Given the description of an element on the screen output the (x, y) to click on. 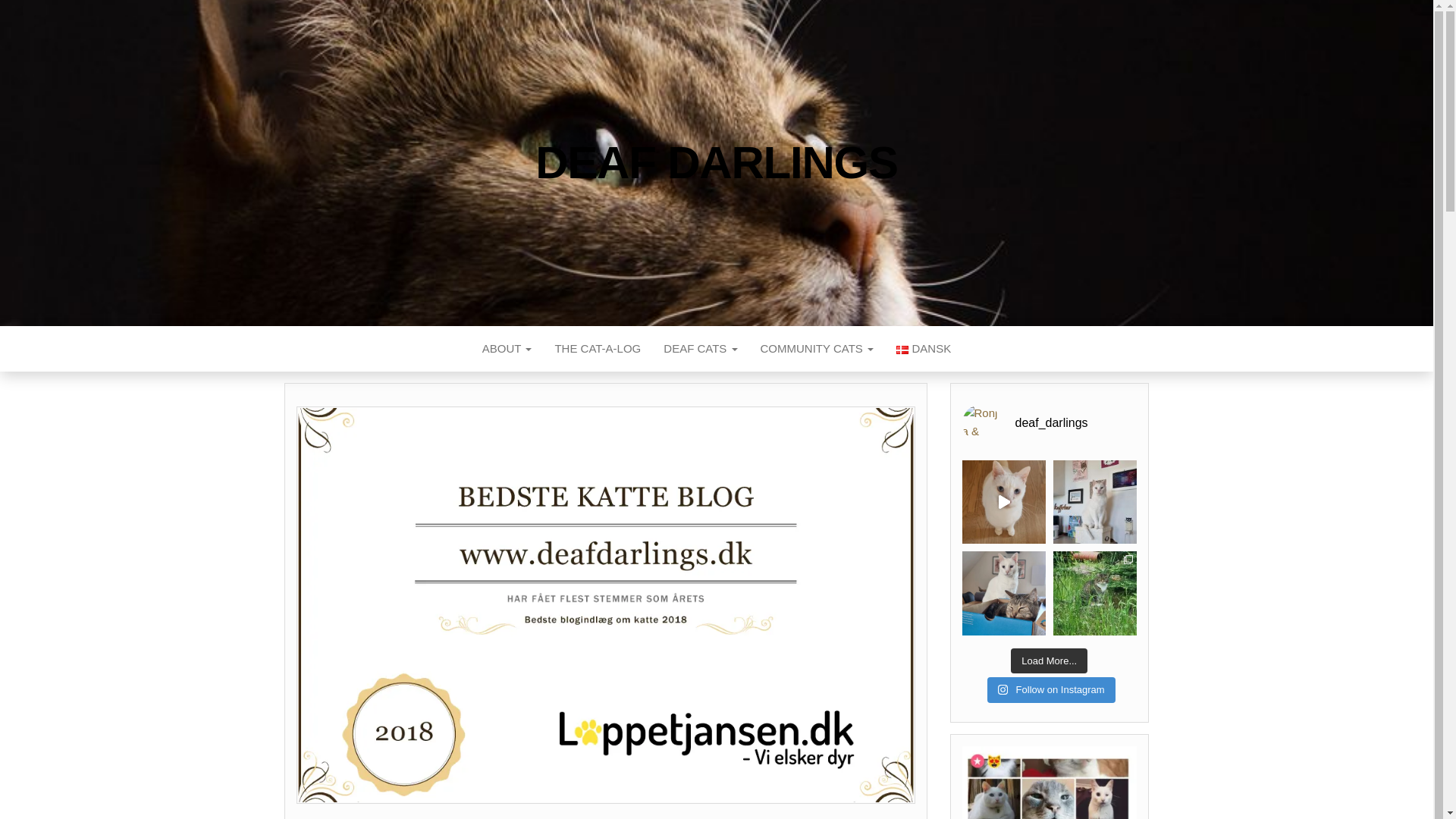
DEAF DARLINGS (716, 162)
About (506, 348)
The Cat-A-Log (597, 348)
Deaf Cats (700, 348)
COMMUNITY CATS (817, 348)
DEAF CATS (700, 348)
ABOUT (506, 348)
THE CAT-A-LOG (597, 348)
